Given the description of an element on the screen output the (x, y) to click on. 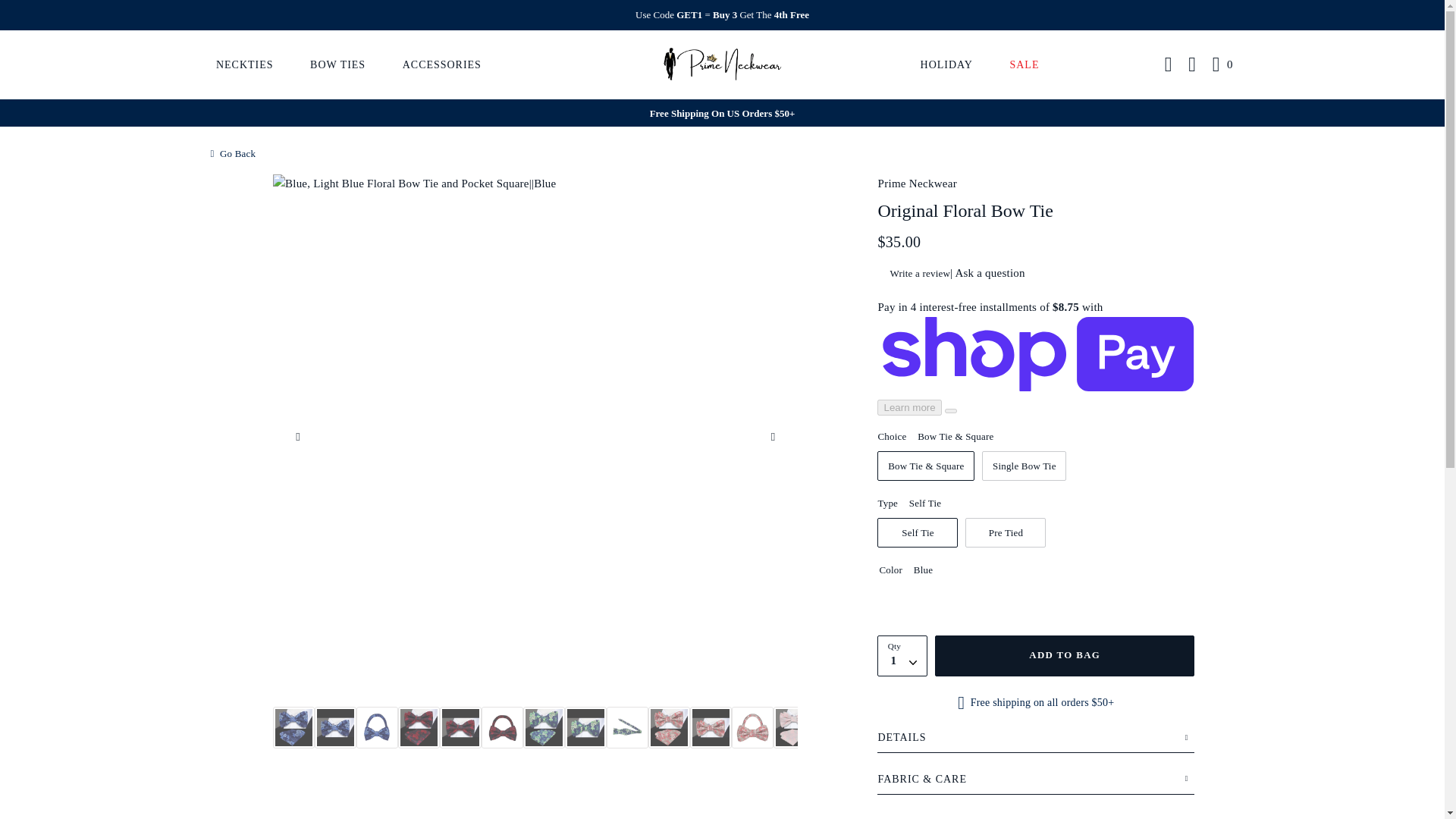
Bow Ties (337, 64)
cart (1223, 64)
NECKTIES (245, 64)
Prime Neckwear (722, 63)
Accessories (441, 64)
Holiday (946, 64)
Neckties (245, 64)
BOW TIES (337, 64)
